Given the description of an element on the screen output the (x, y) to click on. 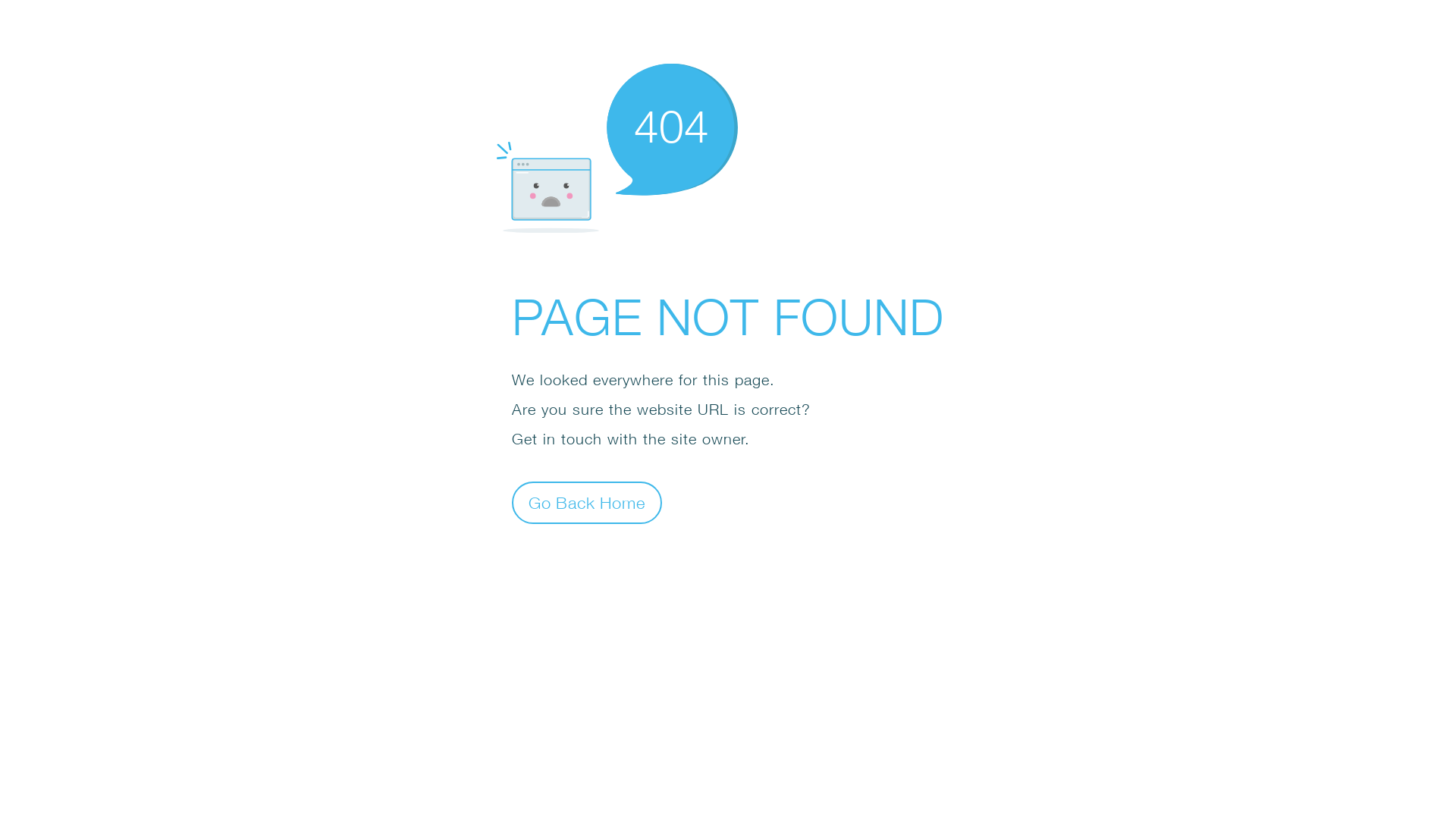
Go Back Home Element type: text (586, 502)
